Given the description of an element on the screen output the (x, y) to click on. 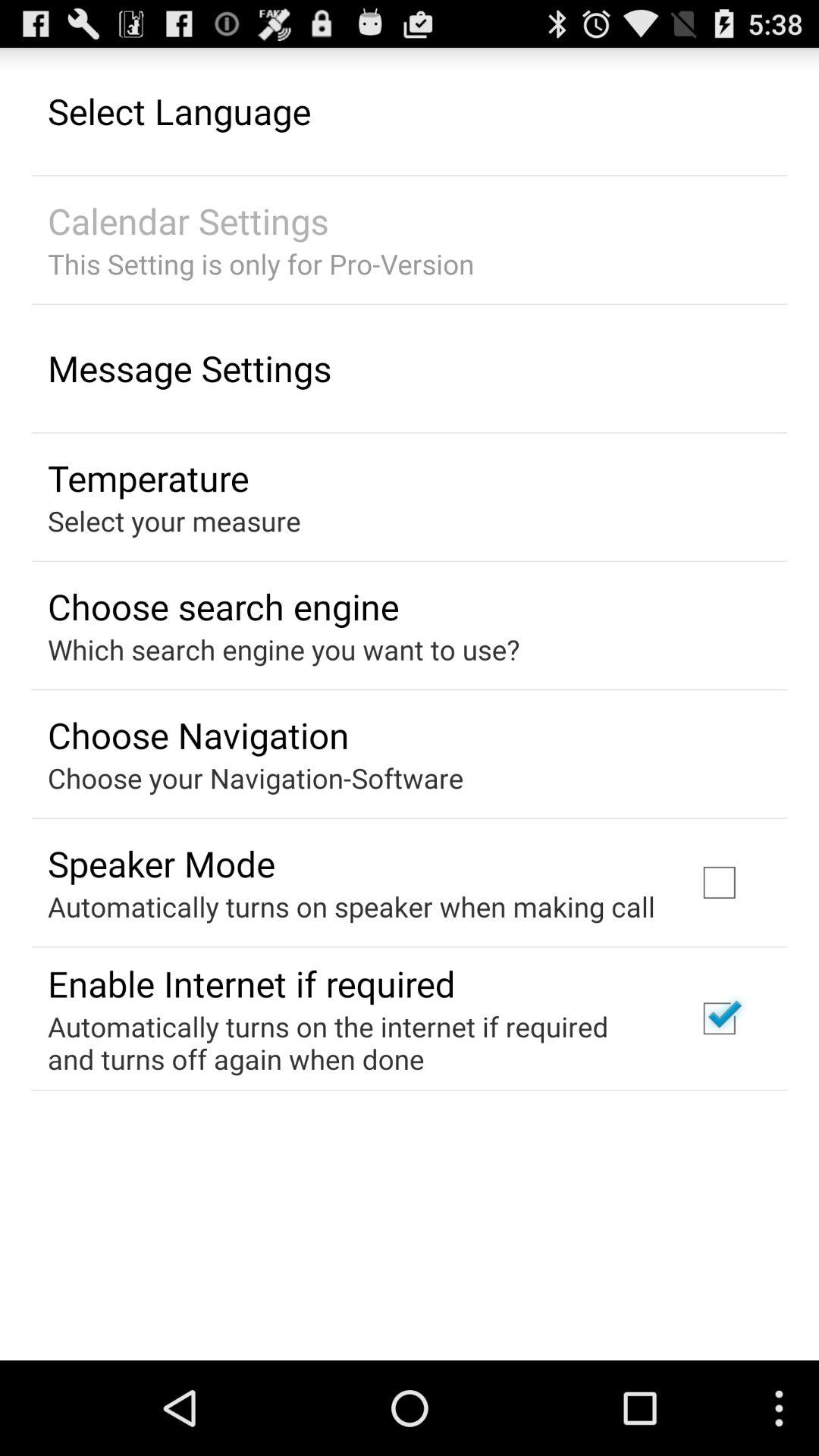
select the calendar settings (187, 220)
